Given the description of an element on the screen output the (x, y) to click on. 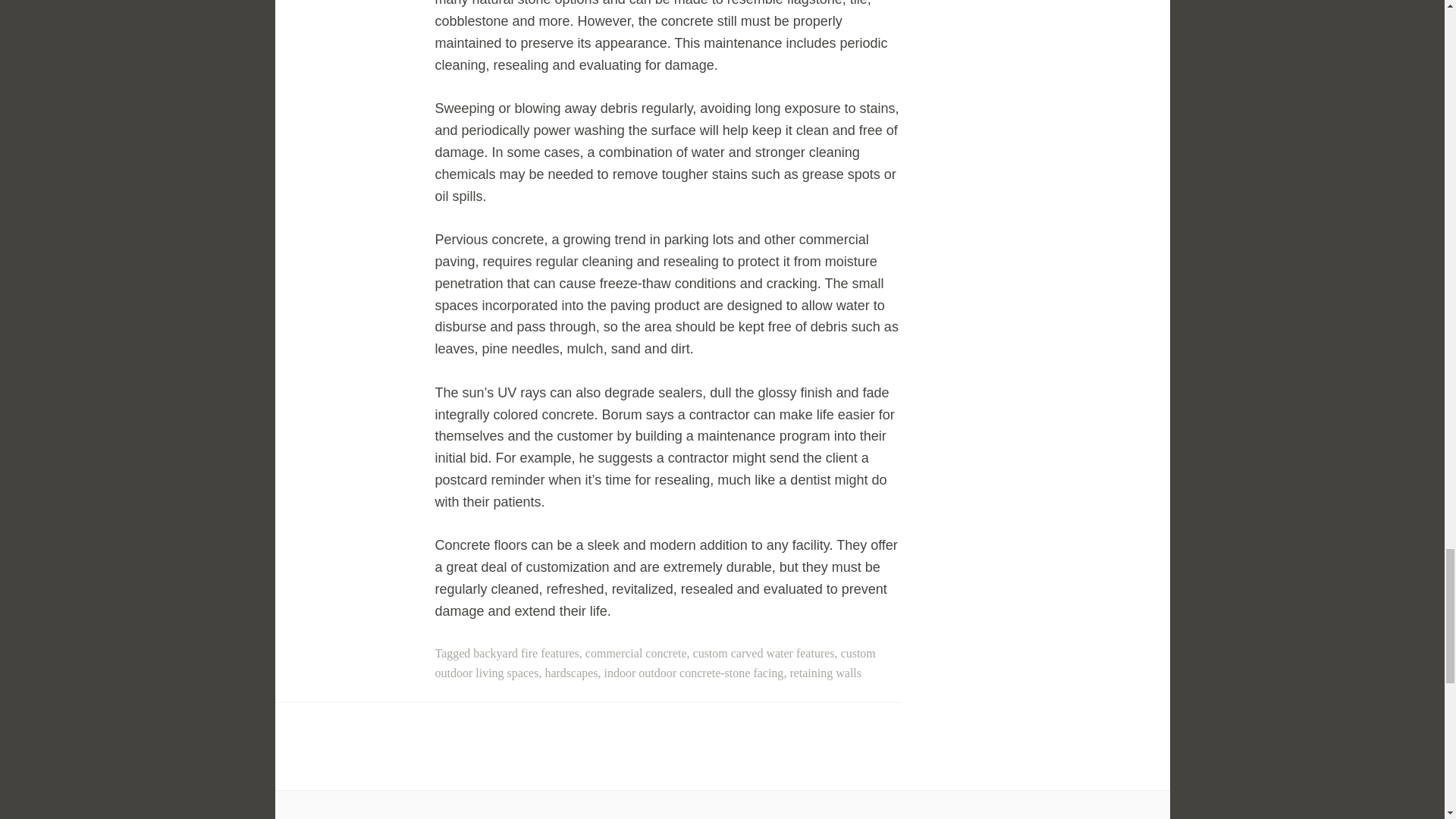
backyard fire features (525, 653)
retaining walls (825, 672)
custom carved water features (763, 653)
hardscapes (570, 672)
commercial concrete (636, 653)
indoor outdoor concrete-stone facing (694, 672)
custom outdoor living spaces (655, 663)
